Given the description of an element on the screen output the (x, y) to click on. 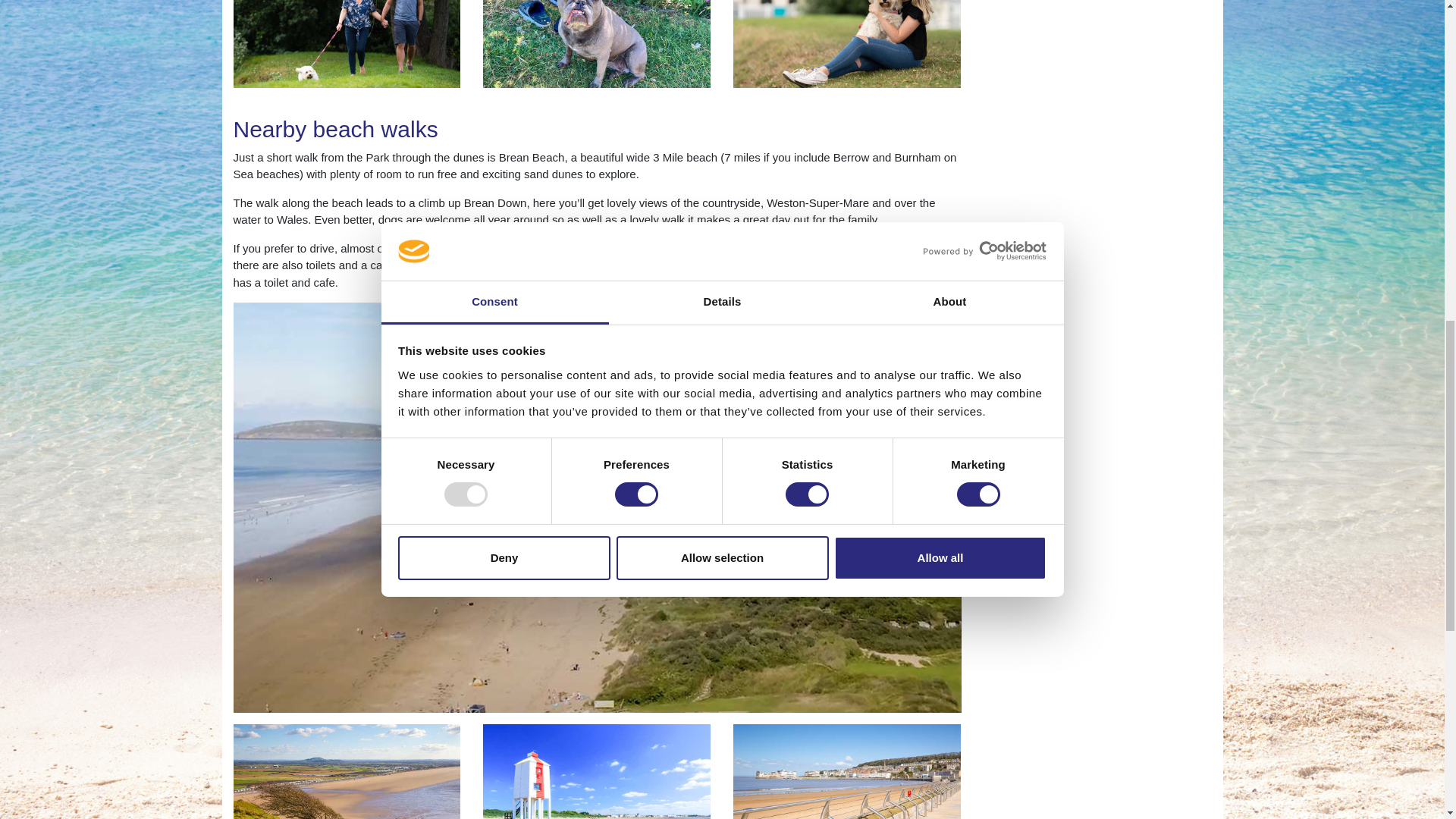
Dog Friendly (846, 43)
Dog Friendly (346, 771)
Dog Friendly (596, 43)
Dog Friendly (846, 771)
